Given the description of an element on the screen output the (x, y) to click on. 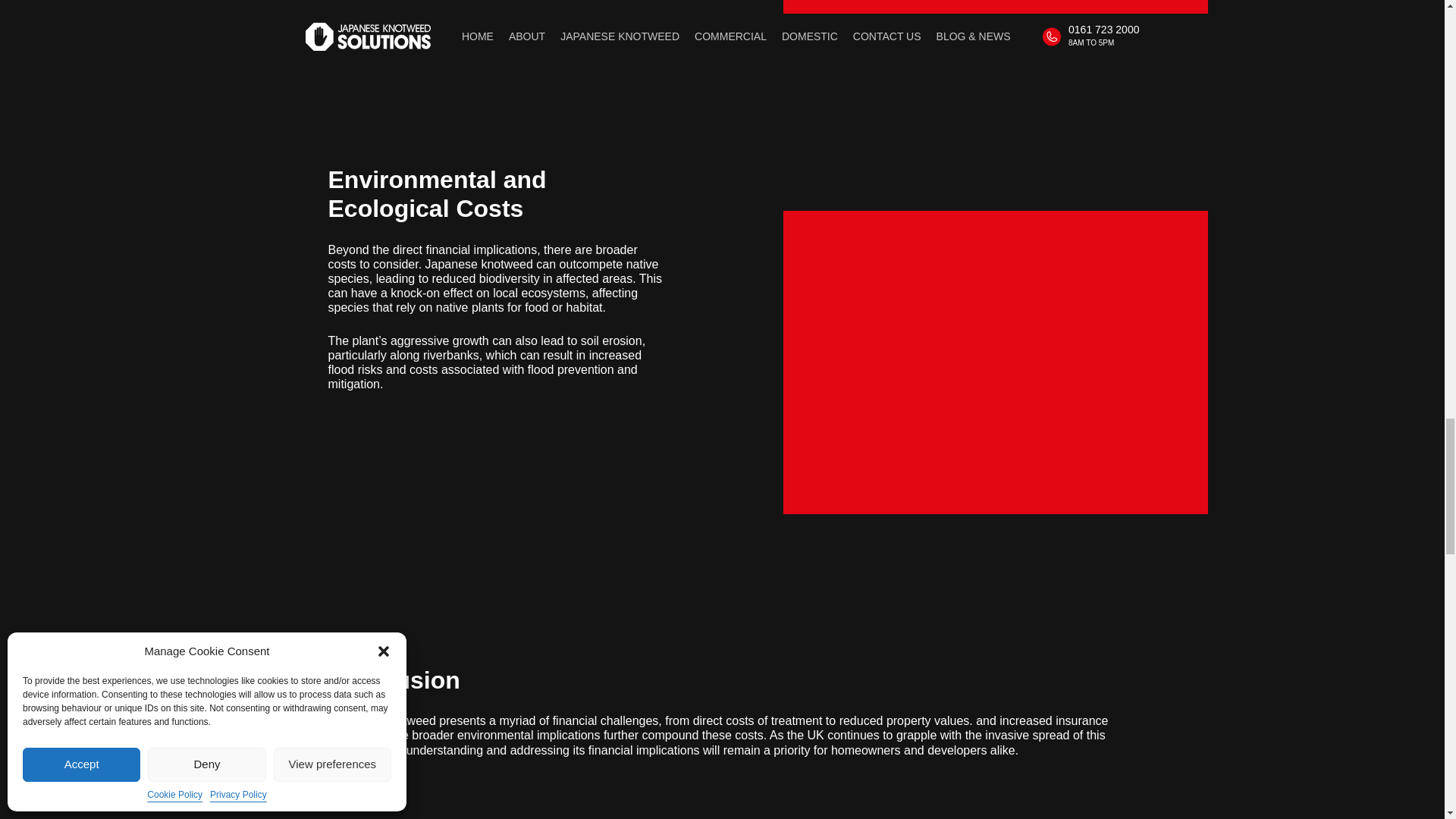
Financial Implications of Japanese Knotweed 5 (995, 6)
Financial Implications of Japanese Knotweed 6 (995, 362)
